Given the description of an element on the screen output the (x, y) to click on. 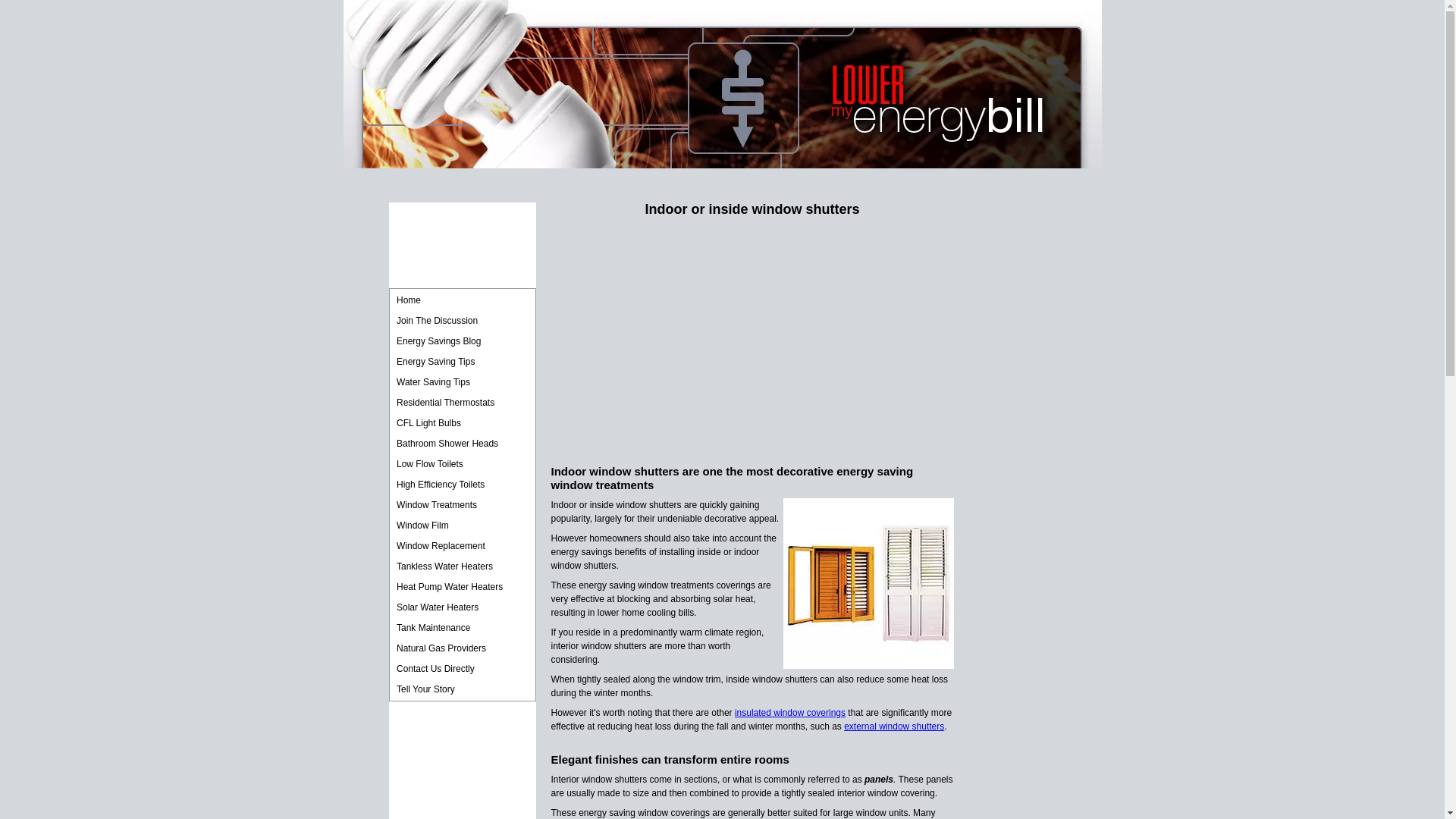
Home (462, 300)
external window shutters (893, 726)
Window Replacement (462, 546)
Tankless Water Heaters (462, 566)
Solar Water Heaters (462, 607)
Contact Us Directly (462, 669)
Join The Discussion (462, 321)
Residential Thermostats (462, 402)
insulated window coverings (790, 712)
Bathroom Shower Heads (462, 443)
